Given the description of an element on the screen output the (x, y) to click on. 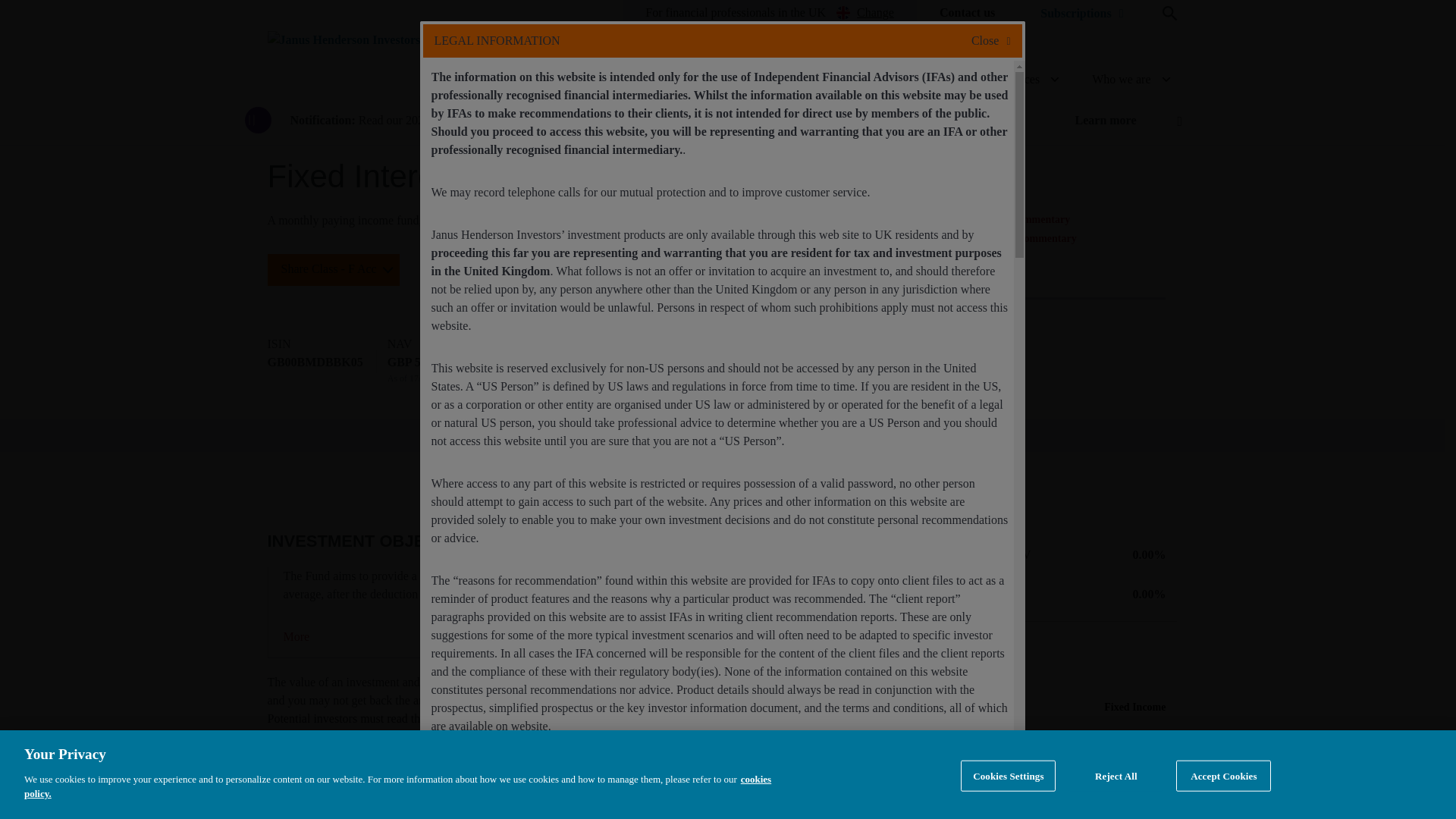
Capabilities (828, 79)
search bar (1168, 13)
Contact us (966, 11)
Products (726, 79)
Insights (930, 79)
Janus Henderson Investors (343, 40)
For financial professionals in the UK Change (769, 11)
